Given the description of an element on the screen output the (x, y) to click on. 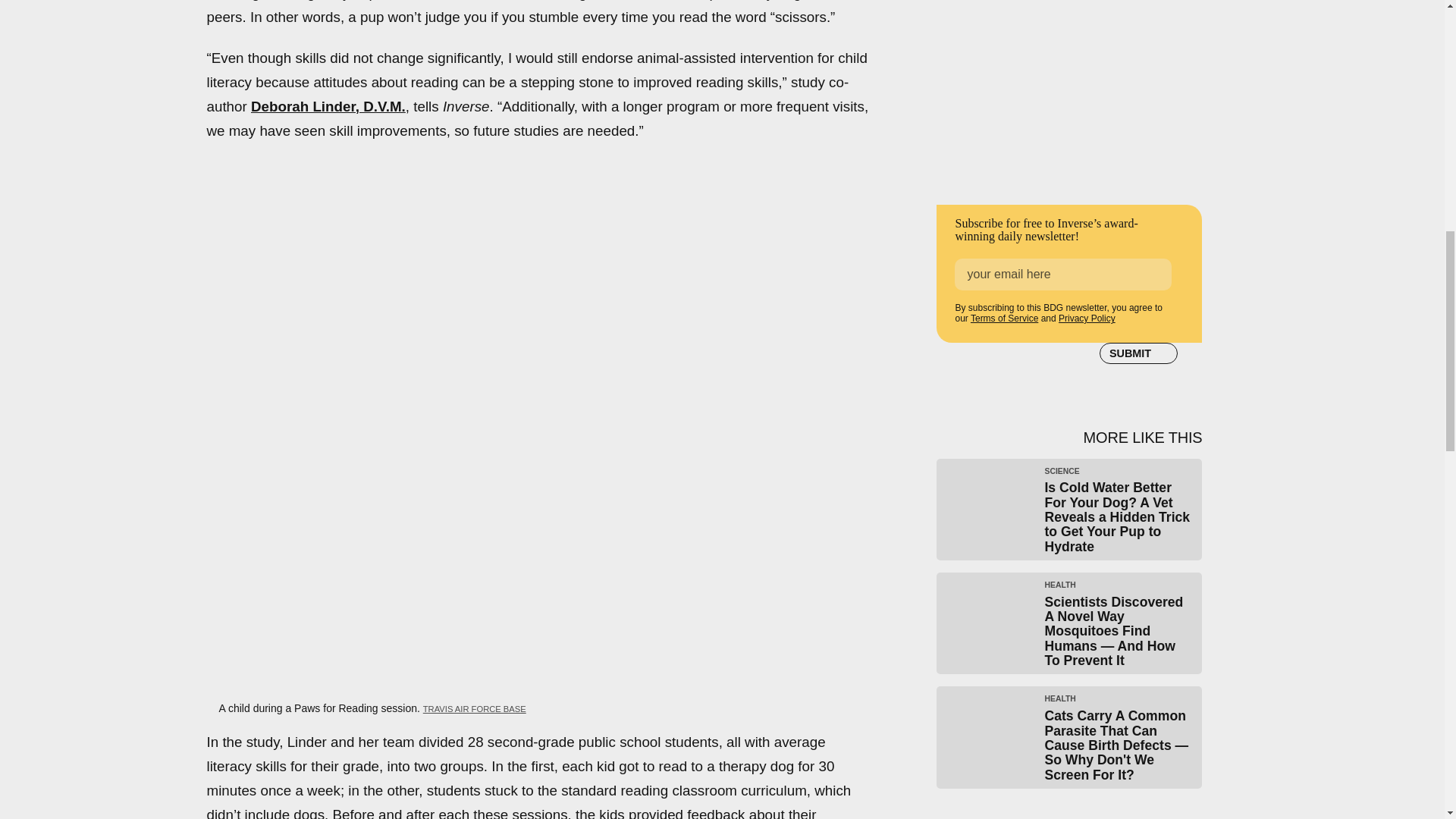
Deborah Linder, D.V.M. (328, 106)
SUBMIT (1138, 353)
TRAVIS AIR FORCE BASE (474, 708)
Terms of Service (1004, 317)
Privacy Policy (1086, 317)
